Given the description of an element on the screen output the (x, y) to click on. 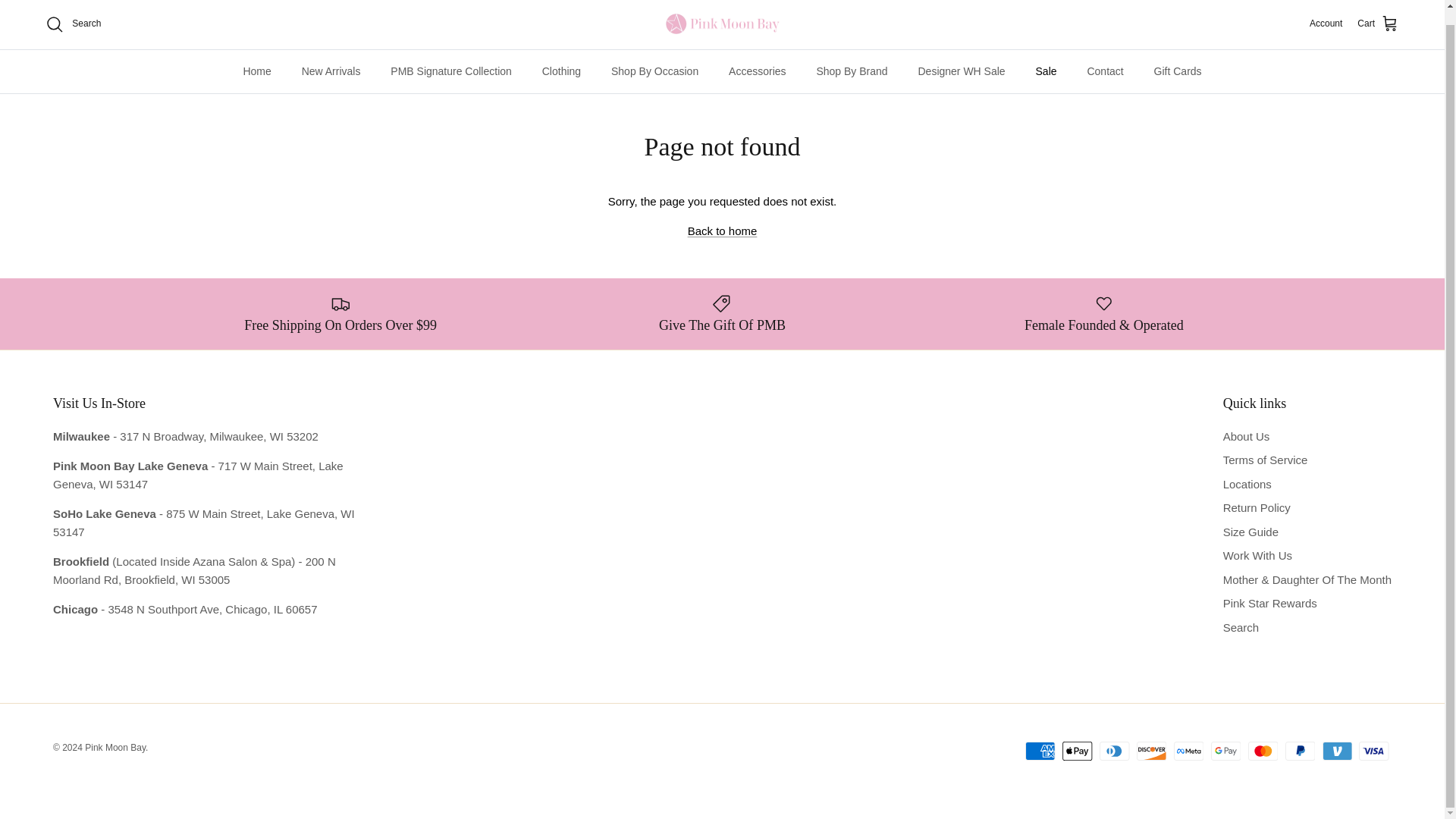
American Express (1040, 751)
Clothing (561, 71)
Diners Club (1114, 751)
Cart (1377, 24)
Meta Pay (1188, 751)
Google Pay (1225, 751)
Account (1325, 23)
Search (72, 24)
PayPal (1299, 751)
Apple Pay (1077, 751)
